Given the description of an element on the screen output the (x, y) to click on. 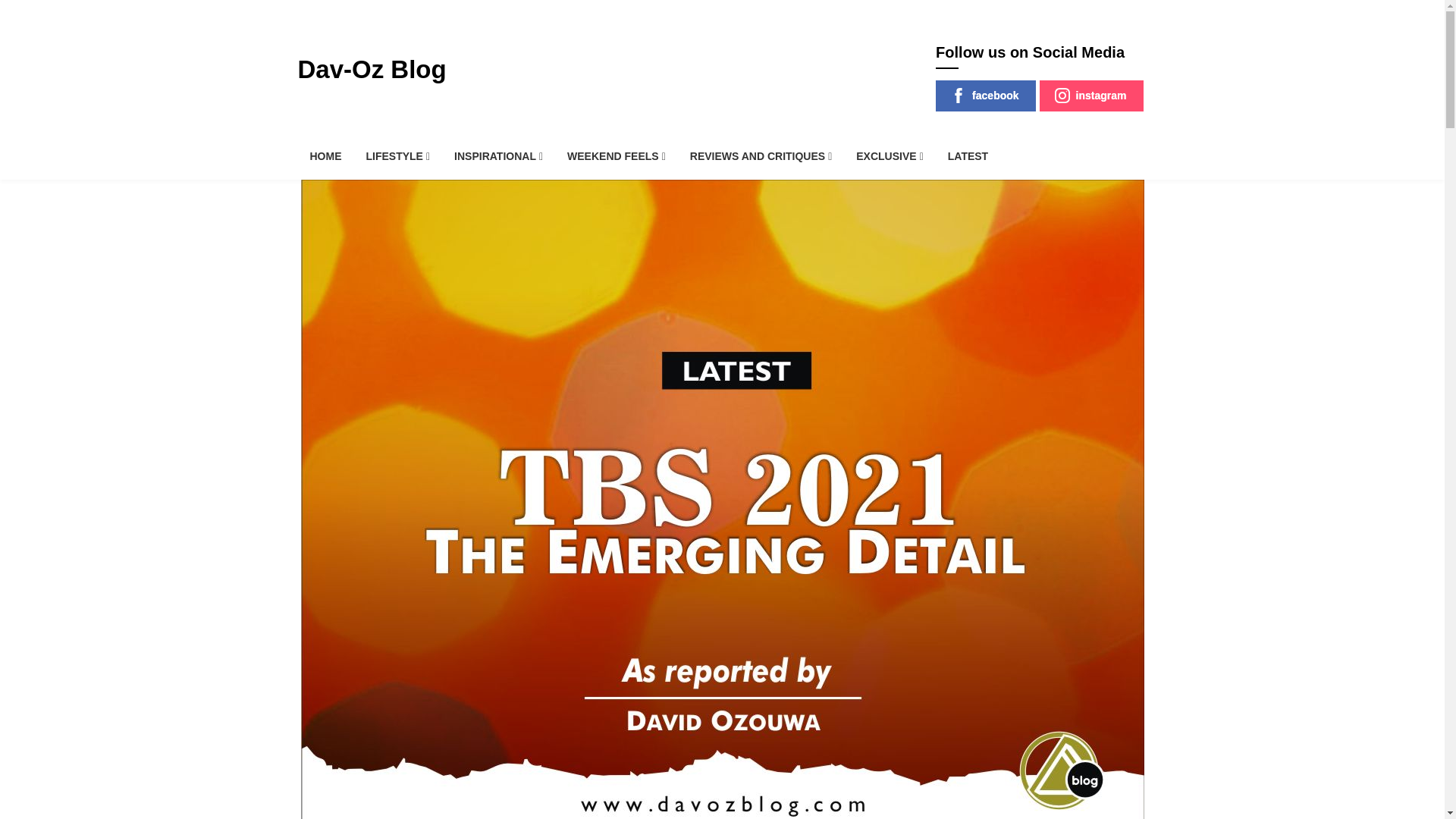
REVIEWS AND CRITIQUES (761, 156)
HOME (325, 156)
facebook (985, 95)
WEEKEND FEELS (616, 156)
instagram (1090, 95)
EXCLUSIVE (889, 156)
Dav-Oz Blog (371, 69)
INSPIRATIONAL (498, 156)
LIFESTYLE (397, 156)
LATEST (968, 156)
